Given the description of an element on the screen output the (x, y) to click on. 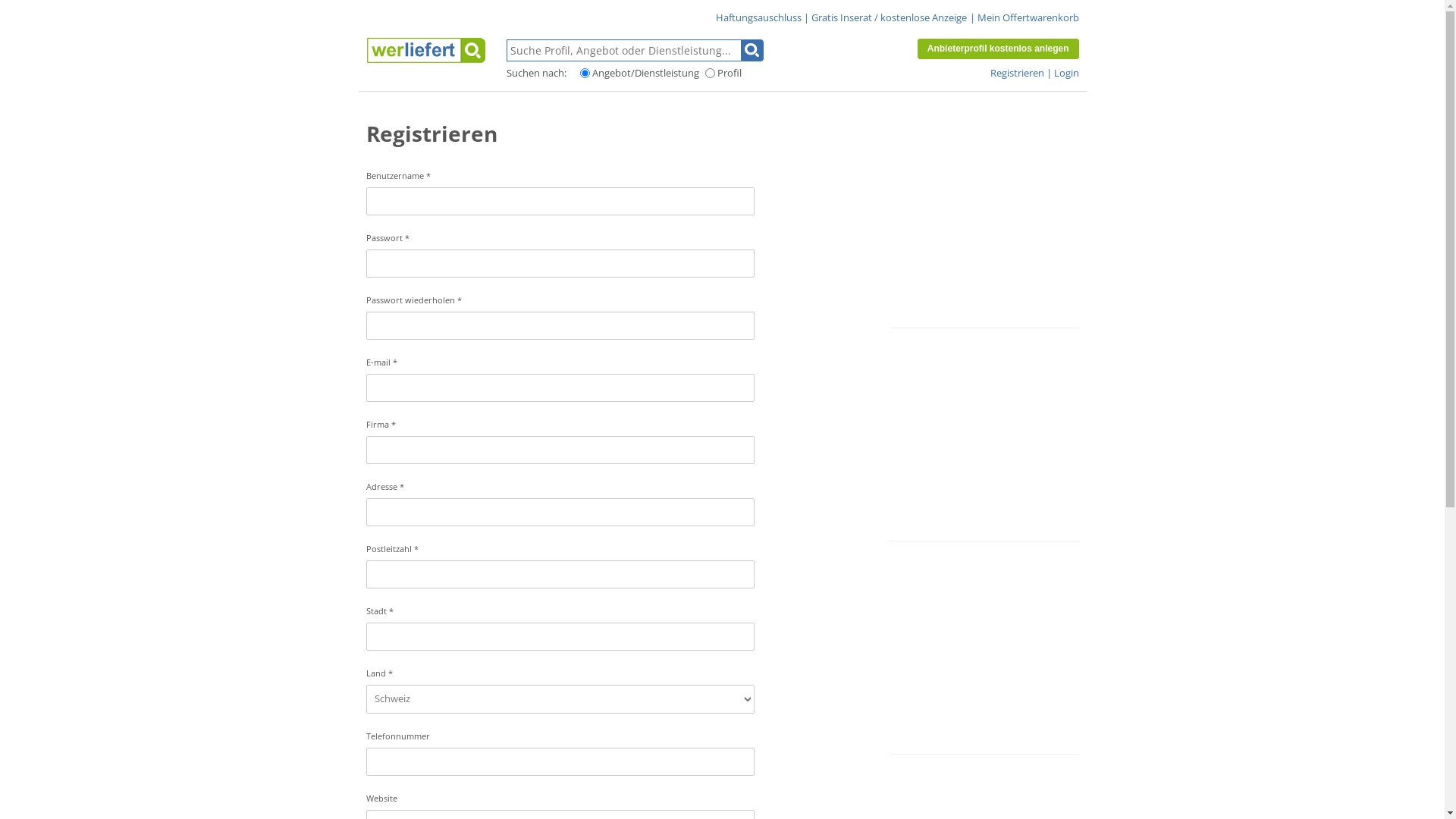
Registrieren Element type: text (1017, 73)
Advertisement Element type: hover (983, 221)
Haftungsauschluss Element type: text (758, 17)
Gratis Inserat / kostenlose Anzeige Element type: text (888, 17)
Login Element type: text (1066, 73)
Mein Offertwarenkorb Element type: text (1027, 17)
Advertisement Element type: hover (983, 434)
Advertisement Element type: hover (983, 647)
Suchen Element type: text (752, 50)
Anbieterprofil kostenlos anlegen Element type: text (998, 48)
